Given the description of an element on the screen output the (x, y) to click on. 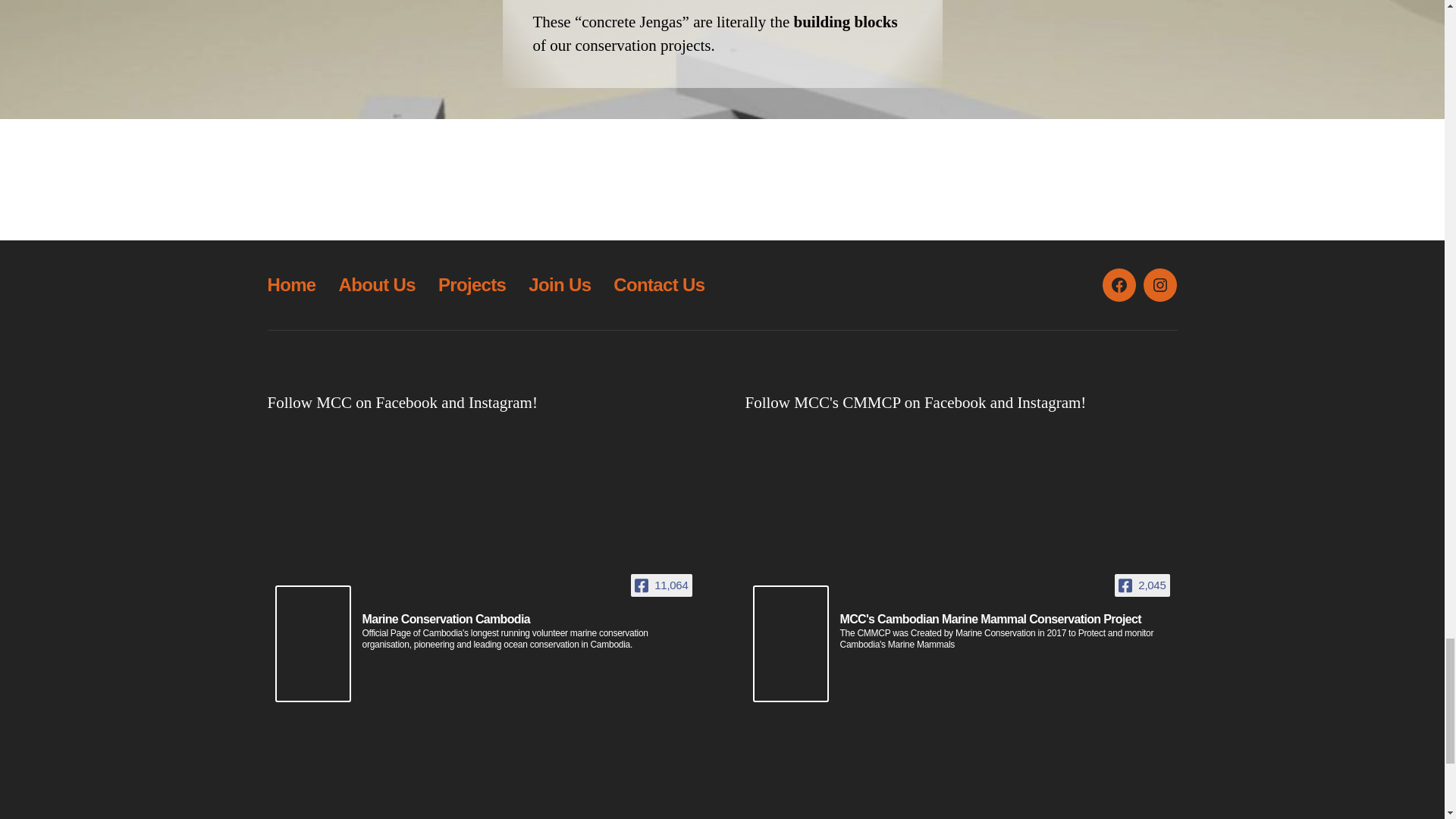
Likebox Iframe (482, 751)
Marine Conservation Cambodia (451, 619)
MCC's Cambodian Marine Mammal Conservation Project (995, 619)
Likebox Iframe (960, 751)
